Given the description of an element on the screen output the (x, y) to click on. 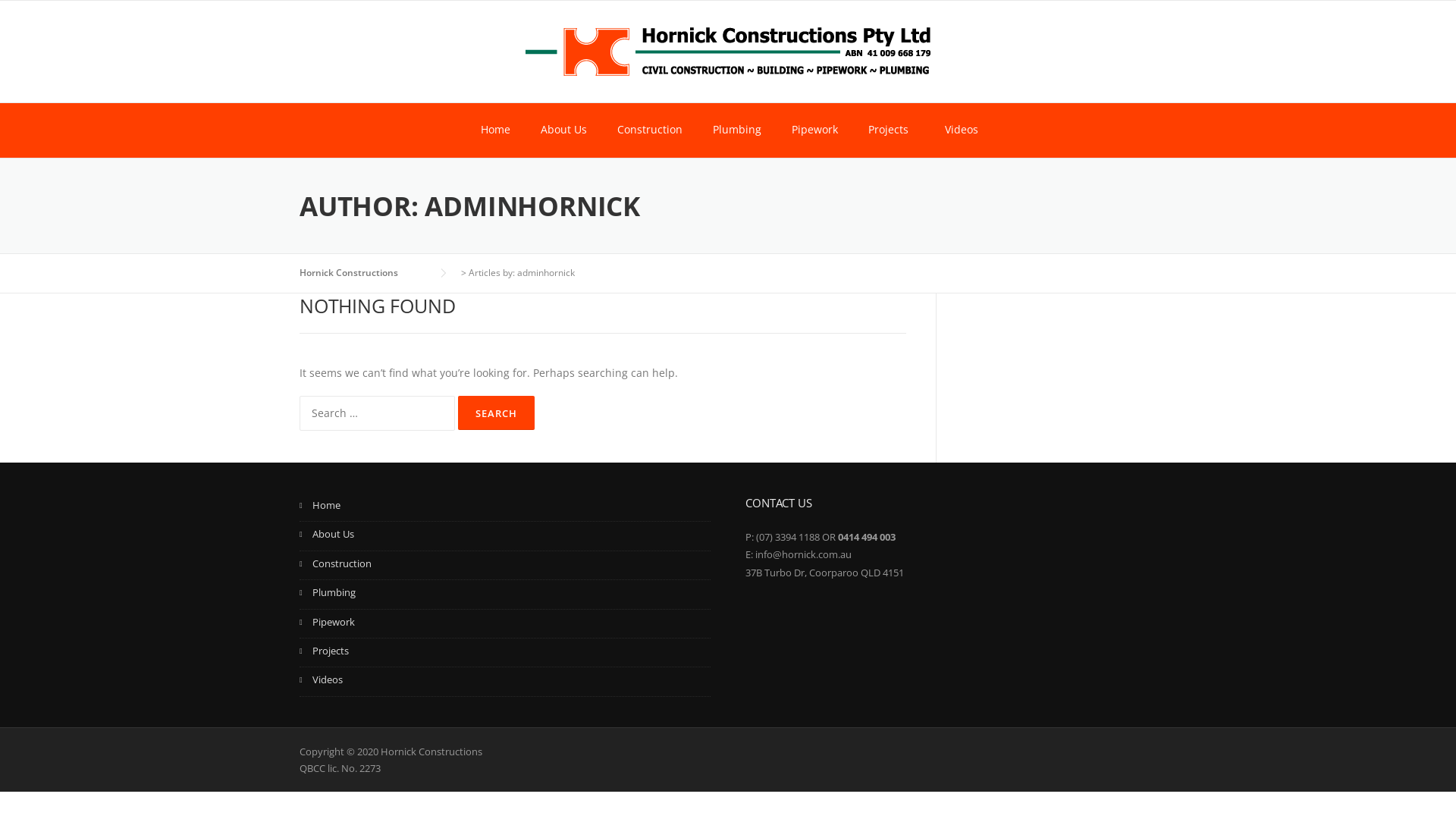
Hornick Constructions Element type: hover (727, 50)
Construction Element type: text (504, 565)
Projects   Element type: text (890, 130)
Projects   Element type: text (504, 652)
Plumbing Element type: text (504, 594)
Search Element type: text (496, 412)
About Us Element type: text (504, 535)
Pipework Element type: text (504, 623)
Hornick Constructions Element type: text (363, 272)
Home Element type: text (495, 130)
Videos Element type: text (504, 681)
Videos Element type: text (960, 130)
Pipework Element type: text (814, 130)
Plumbing Element type: text (737, 130)
Construction Element type: text (649, 130)
Home Element type: text (504, 506)
About Us Element type: text (562, 130)
